Given the description of an element on the screen output the (x, y) to click on. 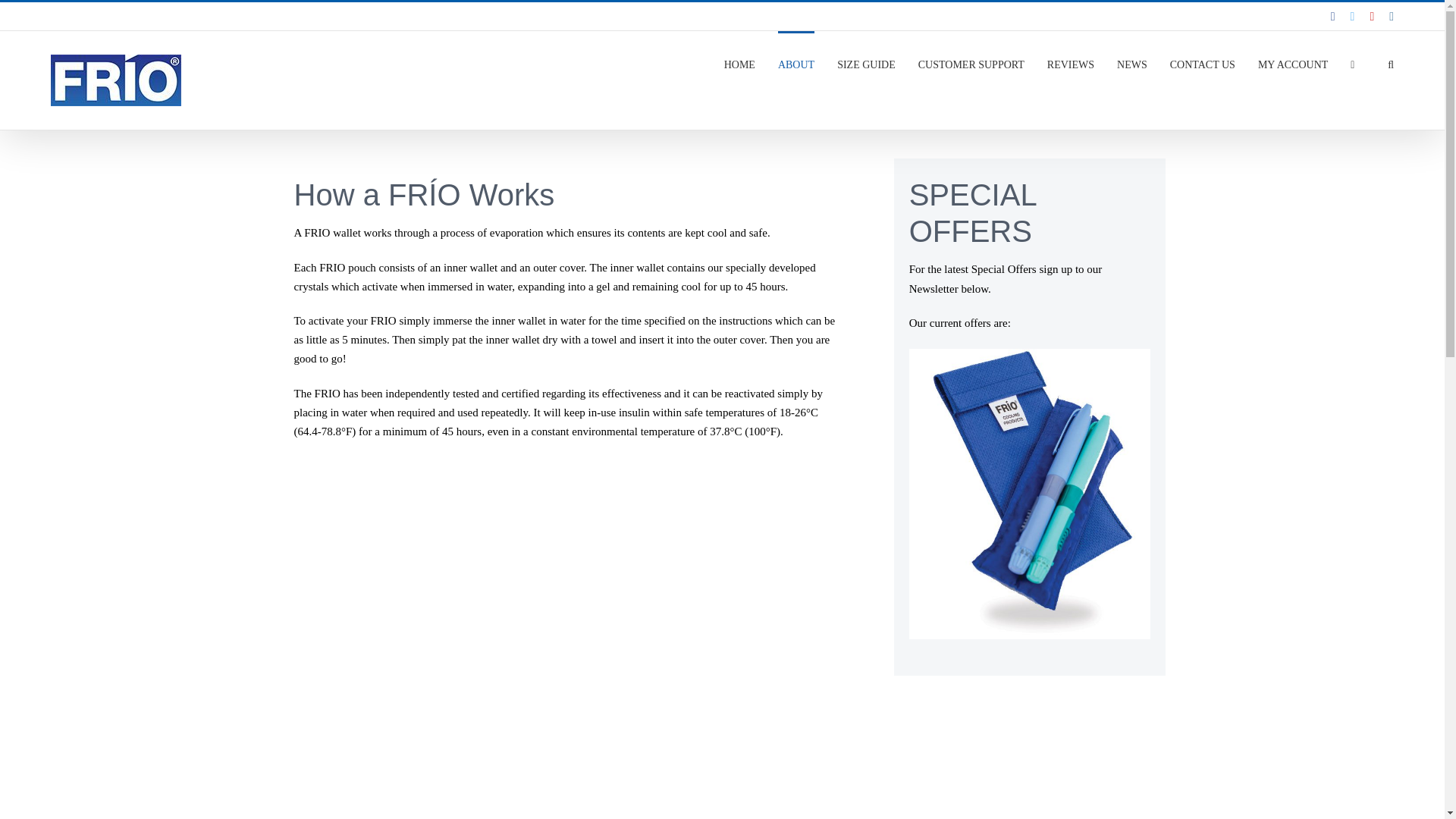
CUSTOMER SUPPORT (971, 63)
Log In (1353, 207)
MY ACCOUNT (1292, 63)
Instagram (1391, 16)
vimeo244853825 (521, 778)
Facebook (1332, 16)
YouTube (1372, 16)
Twitter (1353, 16)
vimeo244853759 (521, 592)
SIZE GUIDE (866, 63)
Search (1390, 63)
REVIEWS (1070, 63)
CONTACT US (1202, 63)
ABOUT (795, 63)
HOME (739, 63)
